Given the description of an element on the screen output the (x, y) to click on. 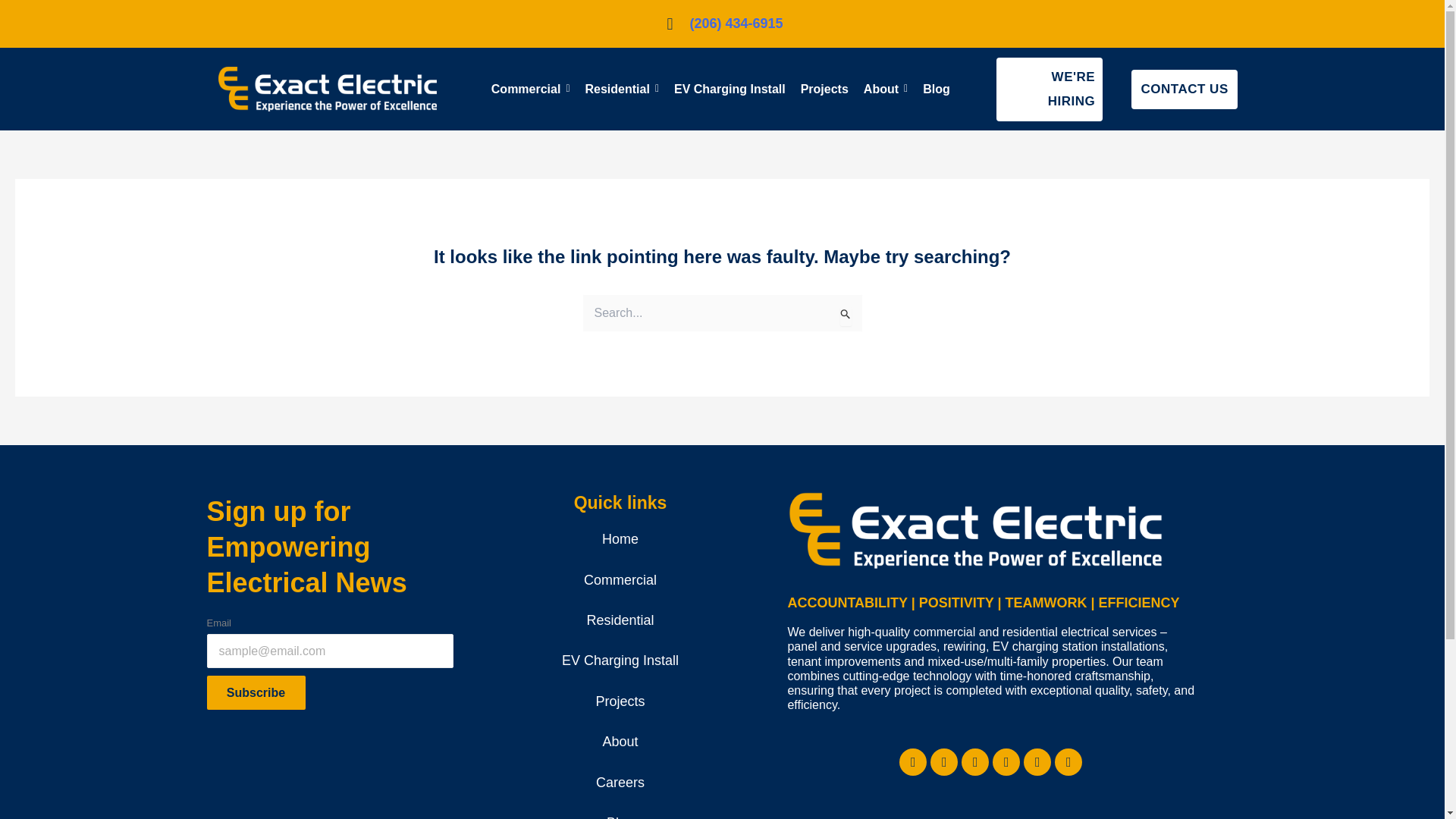
WE'RE HIRING (1048, 88)
About (885, 89)
CONTACT US (1184, 88)
Residential (622, 89)
Home (620, 539)
Search (844, 315)
Search (844, 315)
Blog (936, 89)
Subscribe (255, 692)
EV Charging Install (730, 89)
Search (844, 315)
Projects (824, 89)
Commercial (531, 89)
